Given the description of an element on the screen output the (x, y) to click on. 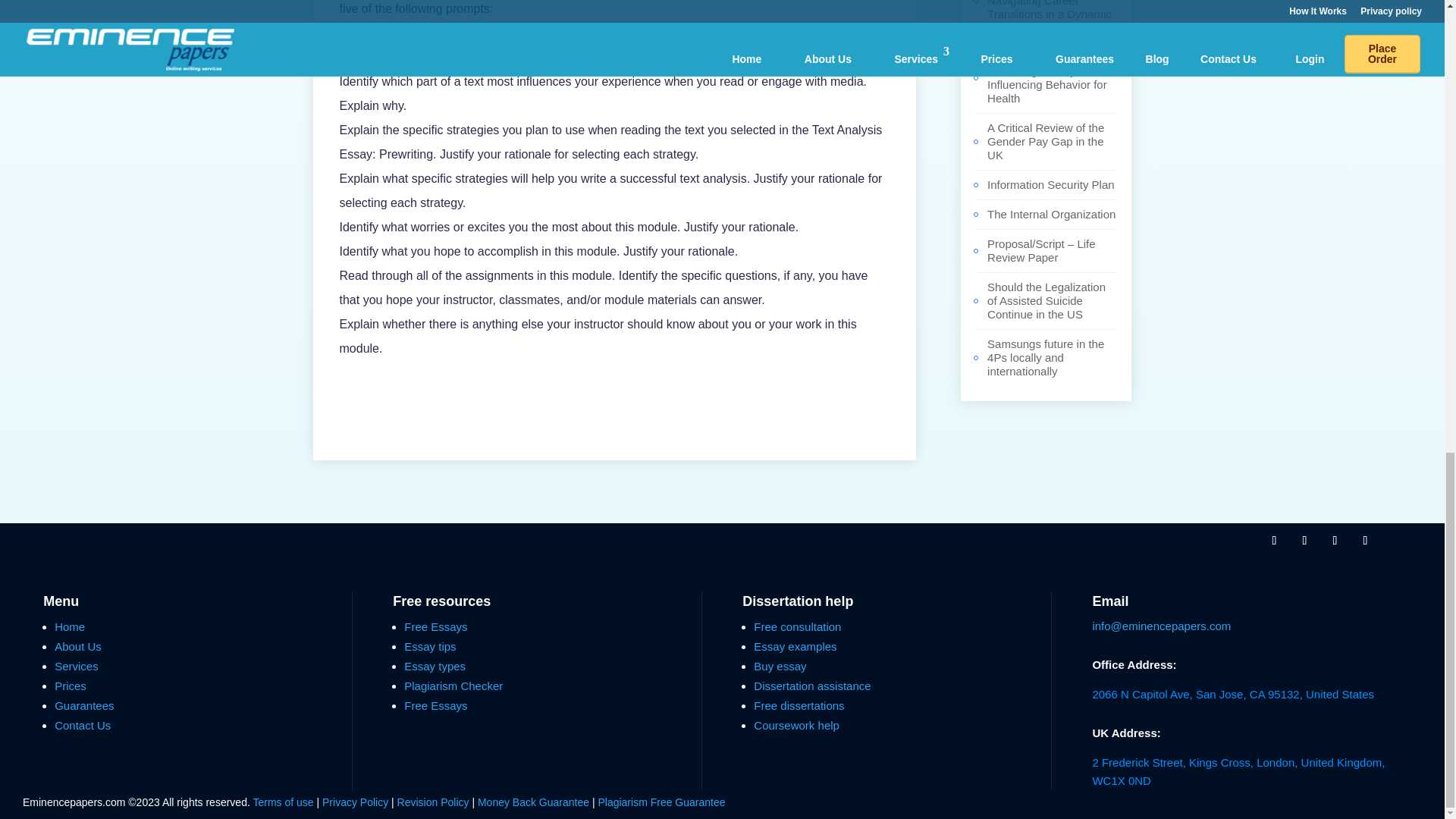
Follow on google-plus (1334, 540)
Follow on Facebook (1273, 540)
The Internal Organization (1051, 214)
Follow on LinkedIn (1364, 540)
A Critical Review of the Gender Pay Gap in the UK (1045, 141)
Follow on X (1304, 540)
Information Security Plan (1051, 184)
